Given the description of an element on the screen output the (x, y) to click on. 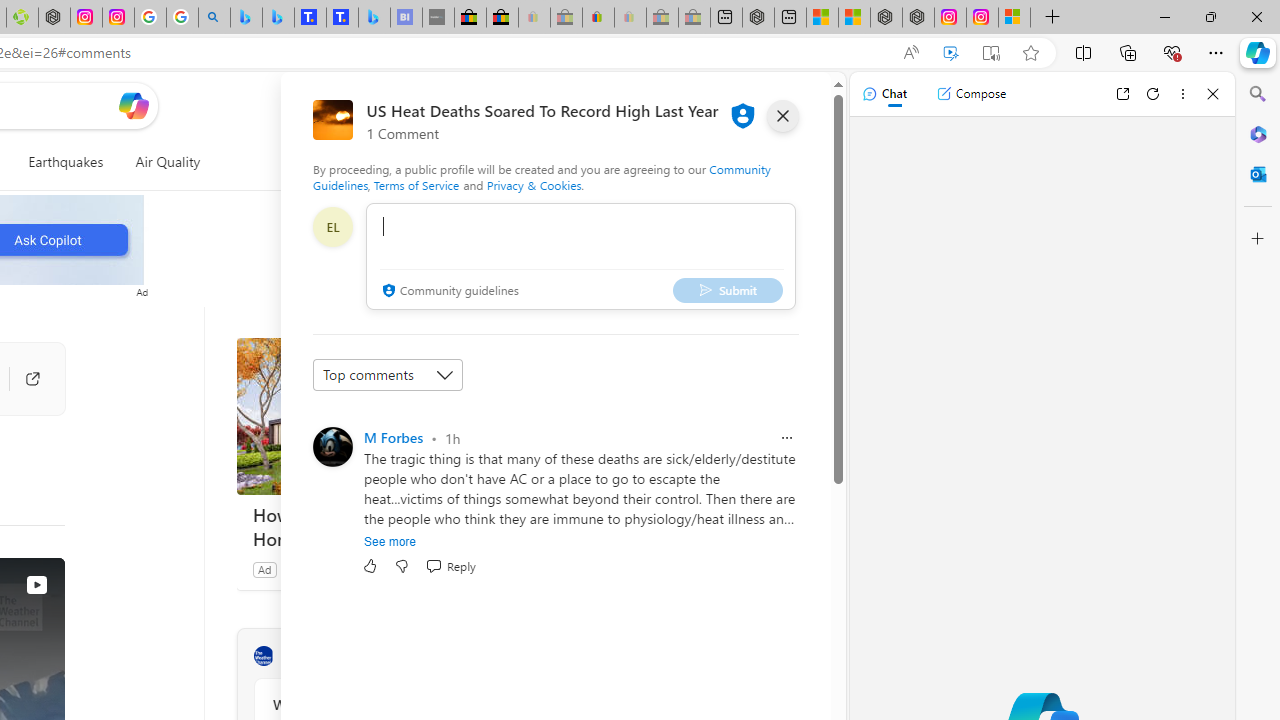
Air Quality (167, 162)
Payments Terms of Use | eBay.com - Sleeping (630, 17)
Press Room - eBay Inc. - Sleeping (662, 17)
Submit (728, 290)
Reply Reply Comment (450, 565)
